Given the description of an element on the screen output the (x, y) to click on. 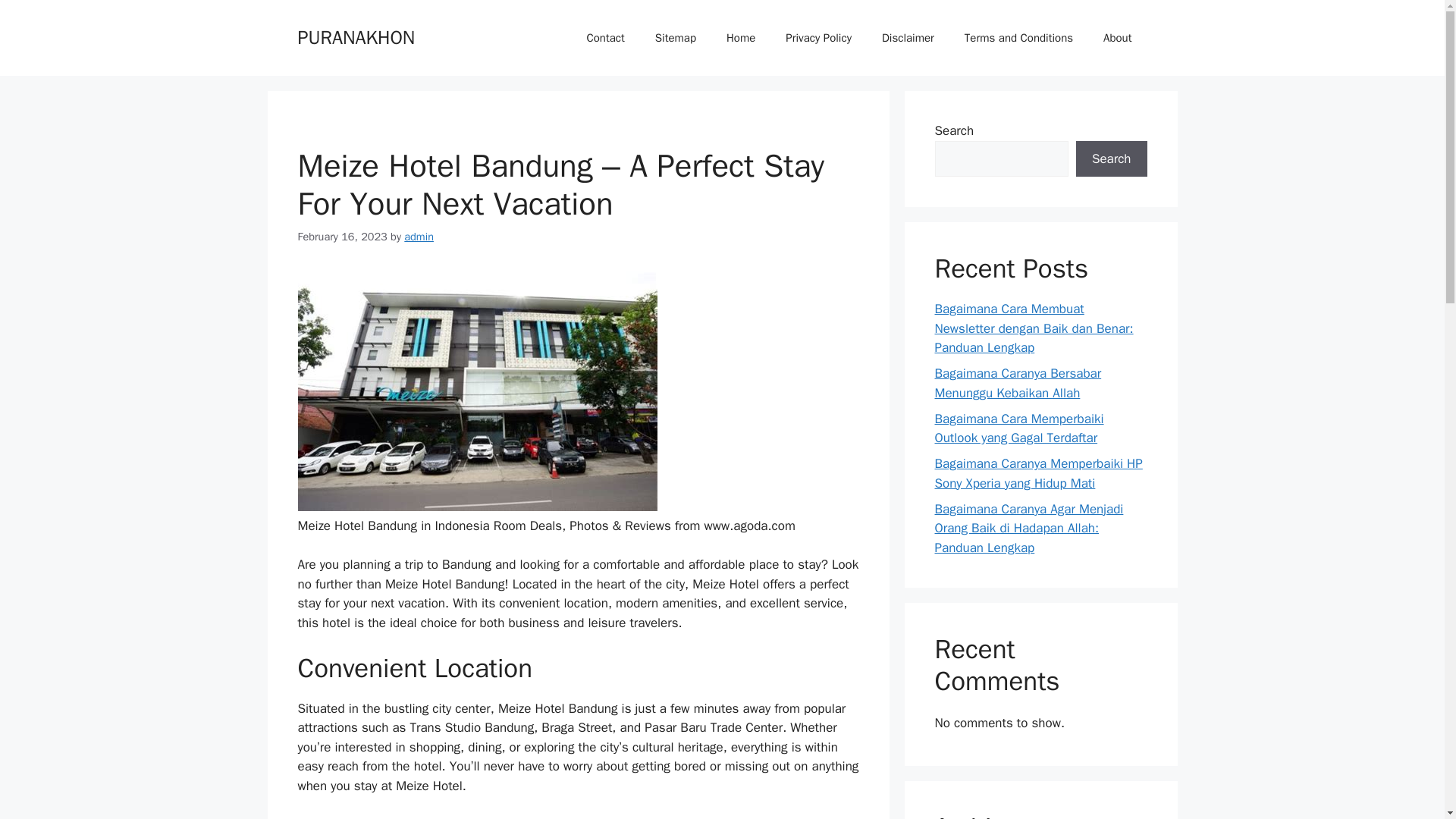
PURANAKHON (355, 37)
Bagaimana Caranya Bersabar Menunggu Kebaikan Allah (1017, 383)
Sitemap (675, 37)
Home (740, 37)
Bagaimana Caranya Memperbaiki HP Sony Xperia yang Hidup Mati (1037, 473)
Disclaimer (907, 37)
Contact (604, 37)
View all posts by admin (418, 236)
Search (1111, 158)
Privacy Policy (818, 37)
admin (418, 236)
About (1117, 37)
Terms and Conditions (1018, 37)
